Given the description of an element on the screen output the (x, y) to click on. 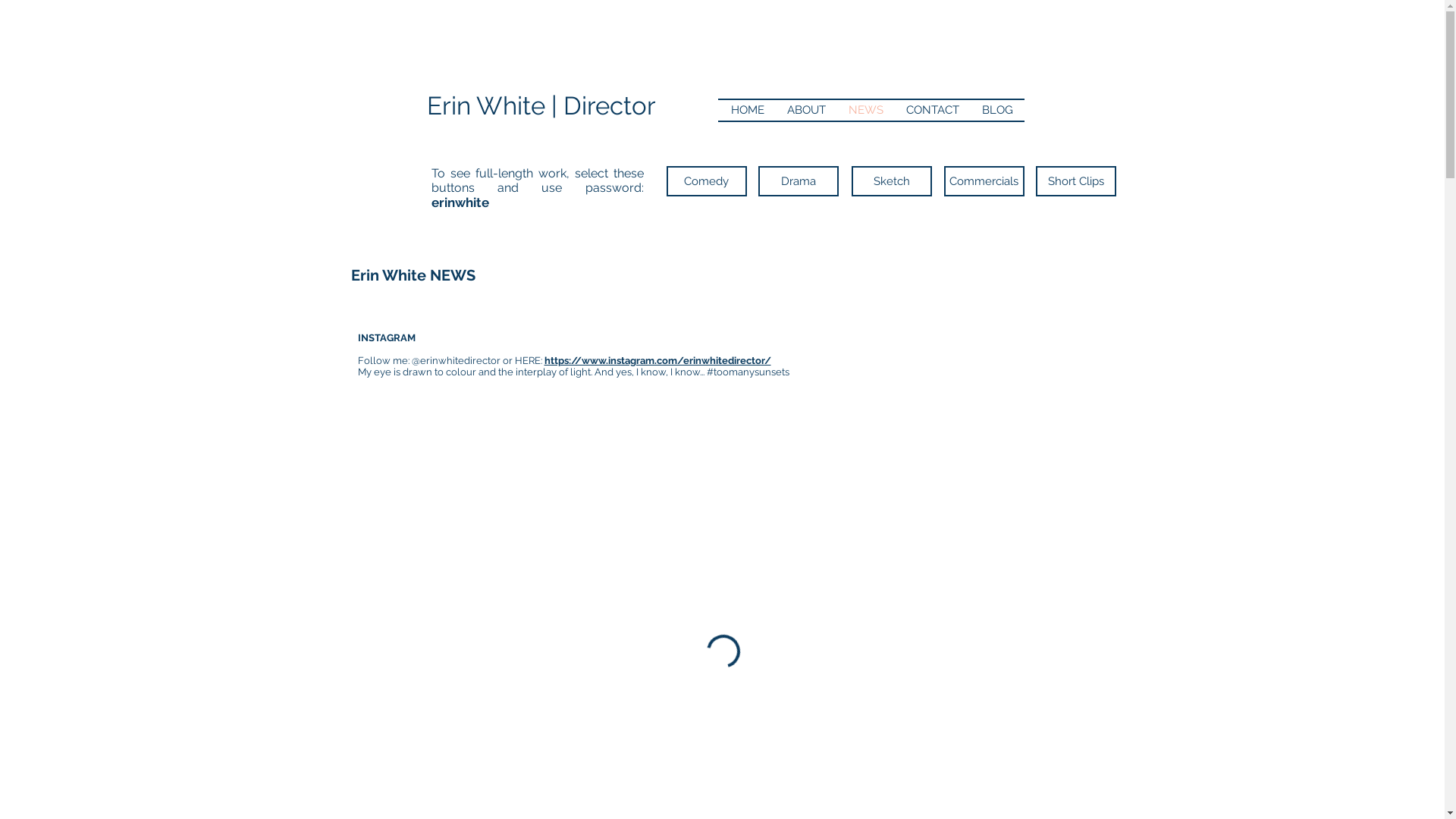
Drama Element type: text (798, 181)
HOME Element type: text (746, 110)
CONTACT Element type: text (932, 110)
https://www.instagram.com/erinwhitedirector/ Element type: text (657, 360)
Sketch Element type: text (890, 181)
Commercials Element type: text (983, 181)
Short Clips Element type: text (1075, 181)
NEWS Element type: text (865, 110)
Comedy Element type: text (705, 181)
BLOG Element type: text (997, 110)
ABOUT Element type: text (805, 110)
